Given the description of an element on the screen output the (x, y) to click on. 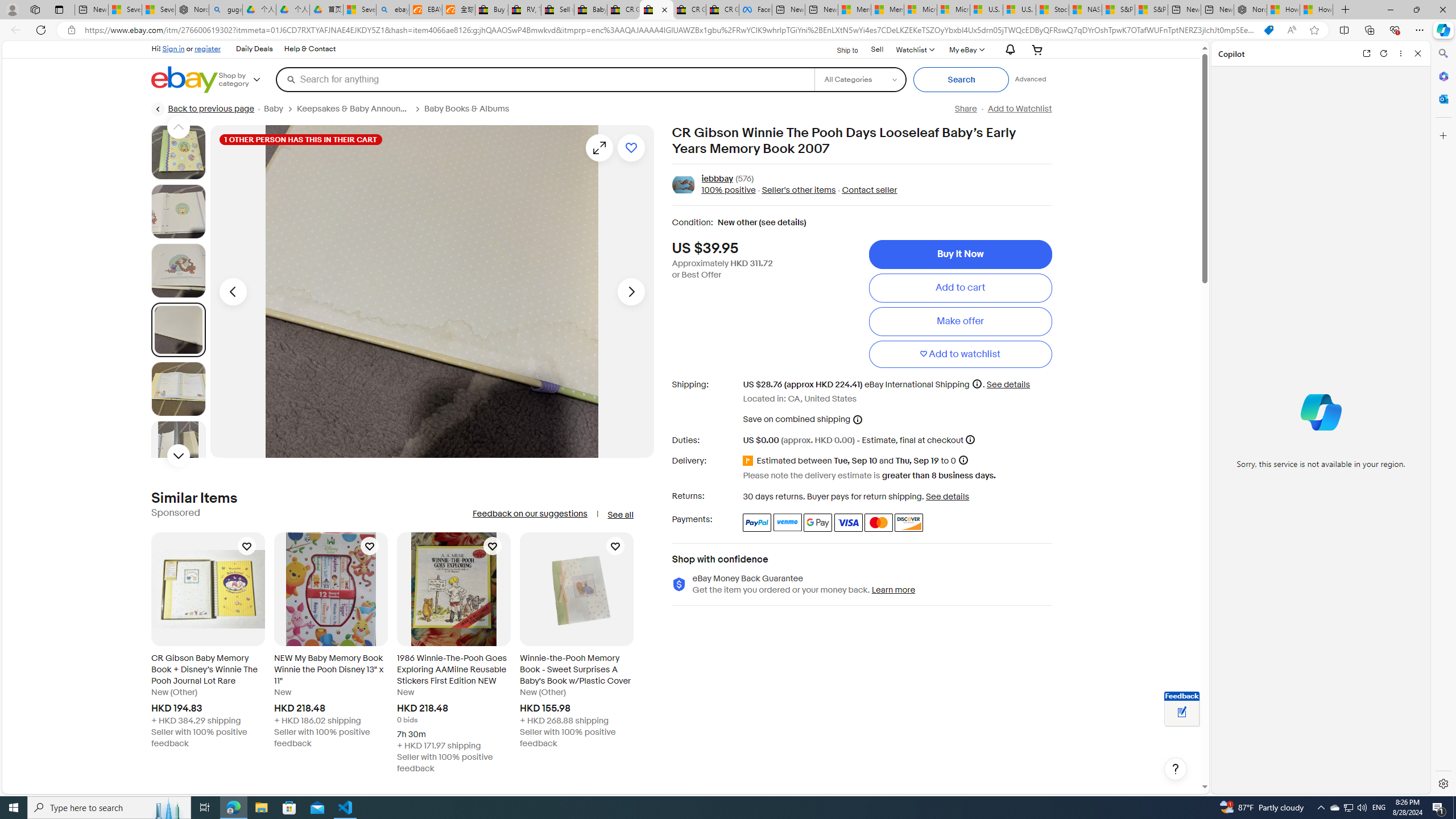
Add to watchlist (631, 147)
How to Use a Monitor With Your Closed Laptop (1316, 9)
Baby (273, 108)
Watchlist (914, 49)
RV, Trailer & Camper Steps & Ladders for sale | eBay (524, 9)
Add to Watchlist (1019, 108)
Outlook (1442, 98)
100% positive (728, 190)
Advanced Search (1030, 78)
WatchlistExpand Watch List (914, 49)
Add to watchlist (959, 353)
Add to cart (959, 287)
